Given the description of an element on the screen output the (x, y) to click on. 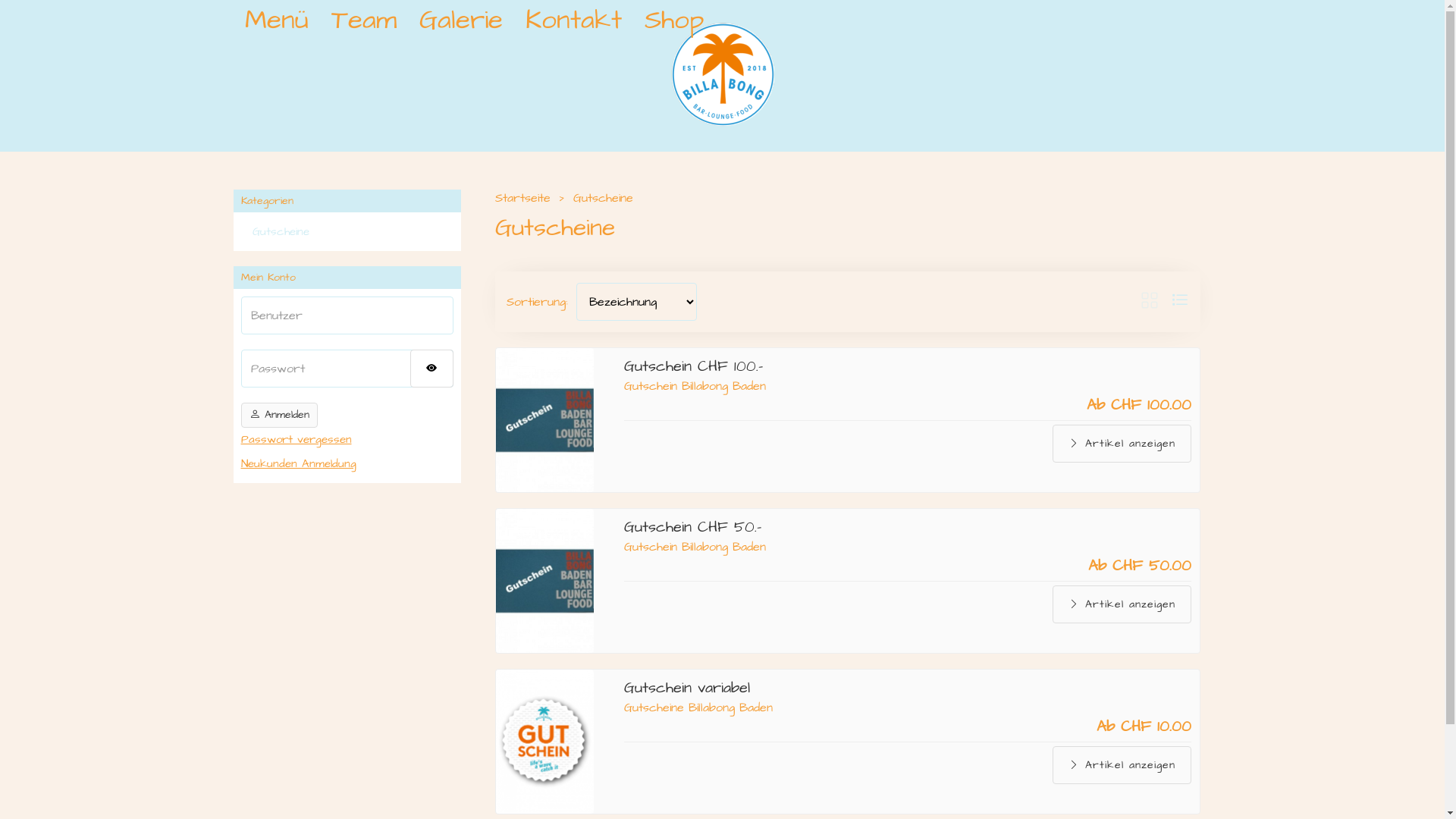
Ab CHF 10.00 Element type: text (1143, 726)
Neukunden Anmeldung Element type: text (347, 463)
Listenansicht Element type: hover (1179, 301)
Artikel anzeigen Element type: text (1121, 604)
Artikel anzeigen Element type: text (1121, 765)
Ab CHF 50.00 Element type: text (1139, 565)
Gutscheine Element type: text (554, 227)
Kachelansicht Element type: hover (1149, 301)
Anmelden Element type: text (279, 414)
Galerie Element type: text (460, 20)
Kontakt Element type: text (573, 20)
Gutschein CHF 100.- Element type: text (693, 365)
Gutscheine Element type: text (603, 197)
Shop Element type: text (673, 20)
Artikel anzeigen Element type: text (1121, 443)
Ab CHF 100.00 Element type: text (1138, 404)
Gutschein CHF 50.- Element type: text (692, 526)
Team Element type: text (363, 20)
Gutschein variabel Element type: text (686, 687)
Gutscheine Element type: text (347, 231)
Startseite Element type: text (521, 197)
Passwort vergessen Element type: text (347, 439)
